Given the description of an element on the screen output the (x, y) to click on. 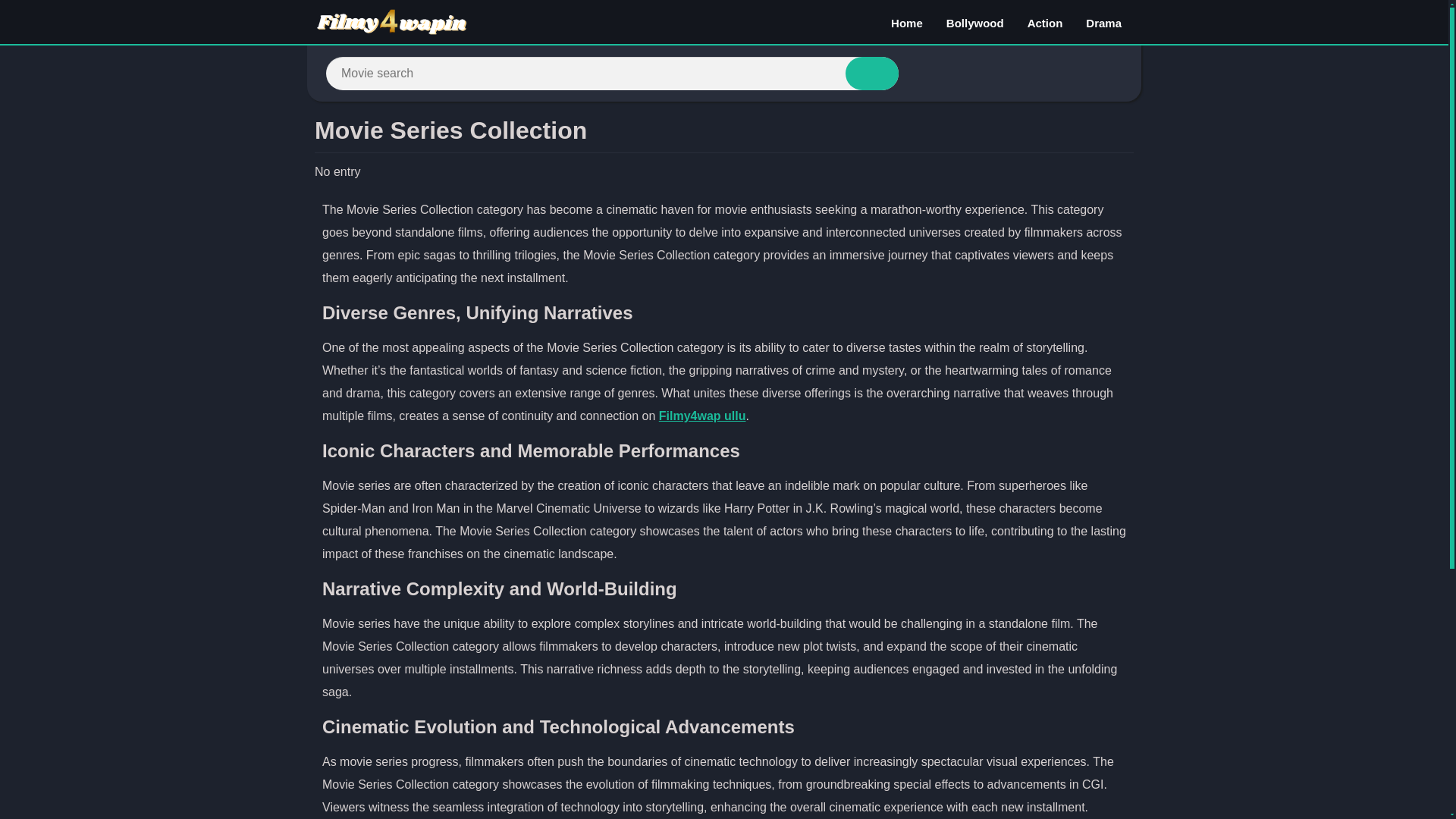
Bollywood (974, 22)
Action (1045, 22)
Home (906, 22)
Filmy4wap ullu (702, 415)
Drama (1103, 22)
Movie search (871, 73)
